Given the description of an element on the screen output the (x, y) to click on. 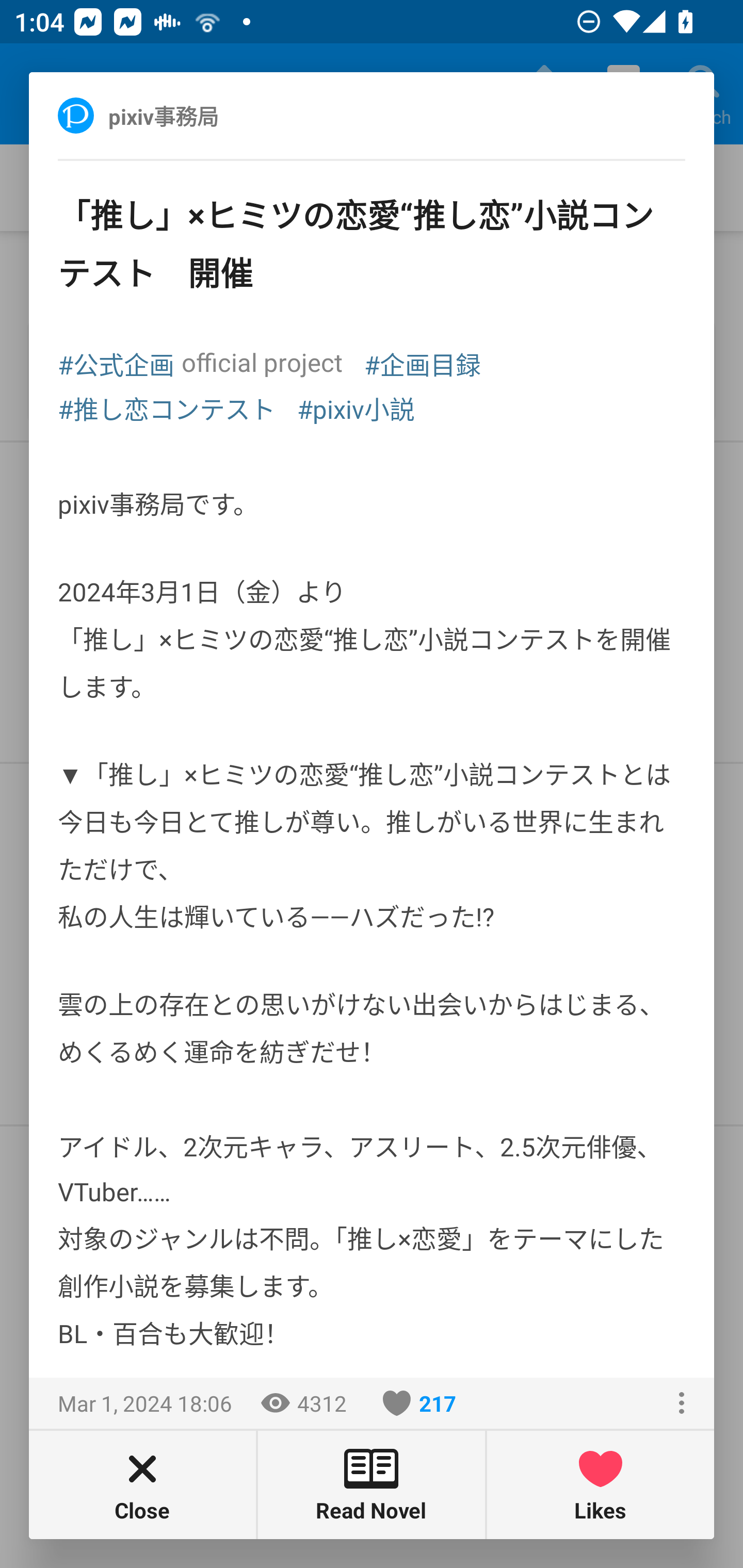
pixiv事務局 (184, 115)
#公式企画 (115, 363)
official project (261, 361)
#企画目録 (422, 363)
#推し恋コンテスト (166, 407)
#pixiv小説 (355, 407)
217 (419, 1403)
Close (141, 1484)
Read Novel (371, 1484)
